Given the description of an element on the screen output the (x, y) to click on. 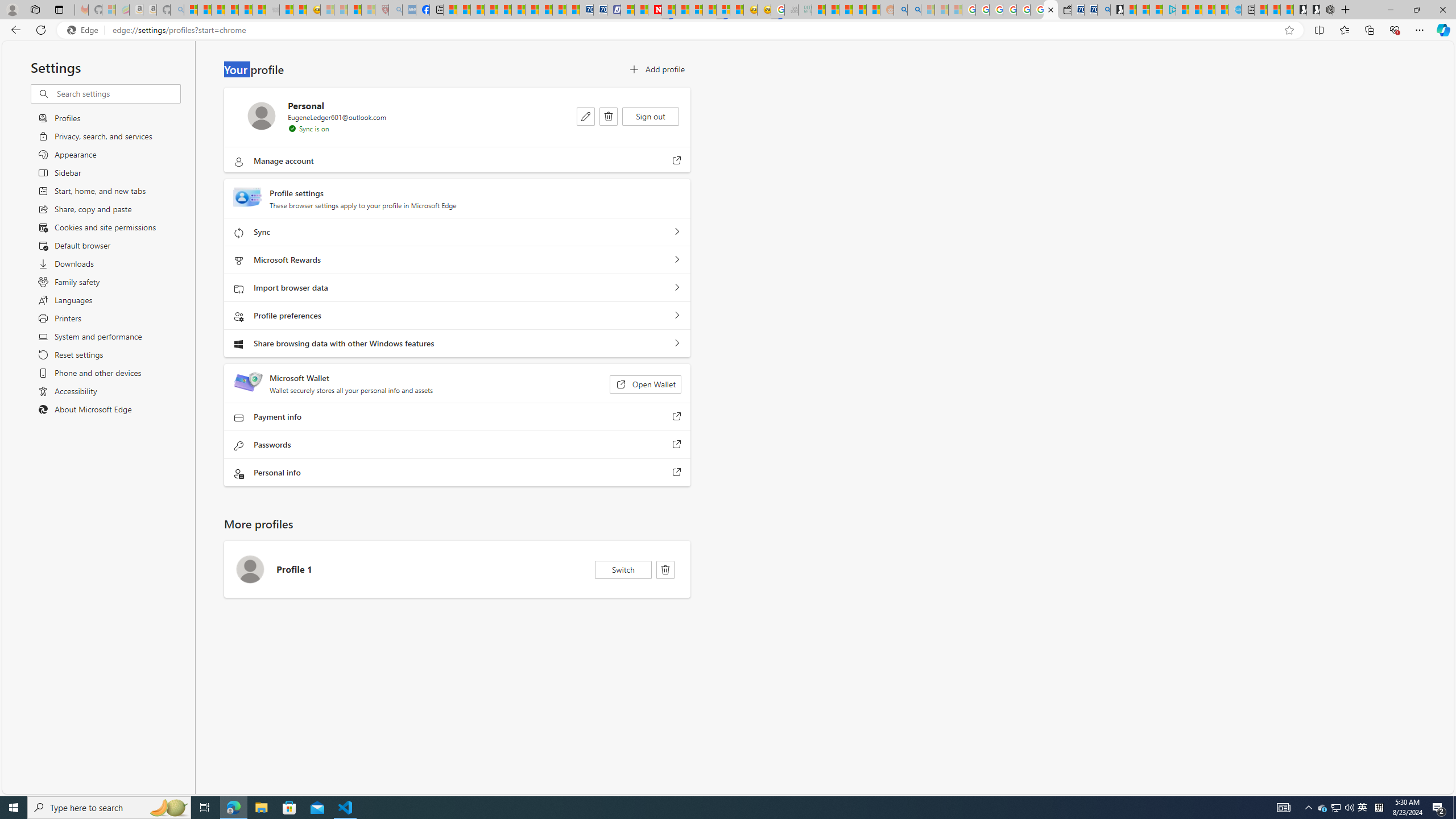
list of asthma inhalers uk - Search - Sleeping (395, 9)
Add profile (655, 69)
Switch (623, 570)
Microsoft account | Privacy (1155, 9)
Nordace - Nordace Siena Is Not An Ordinary Backpack (1326, 9)
New Report Confirms 2023 Was Record Hot | Watch (245, 9)
Latest Politics News & Archive | Newsweek.com (654, 9)
Personal Avatar icon (261, 116)
